Given the description of an element on the screen output the (x, y) to click on. 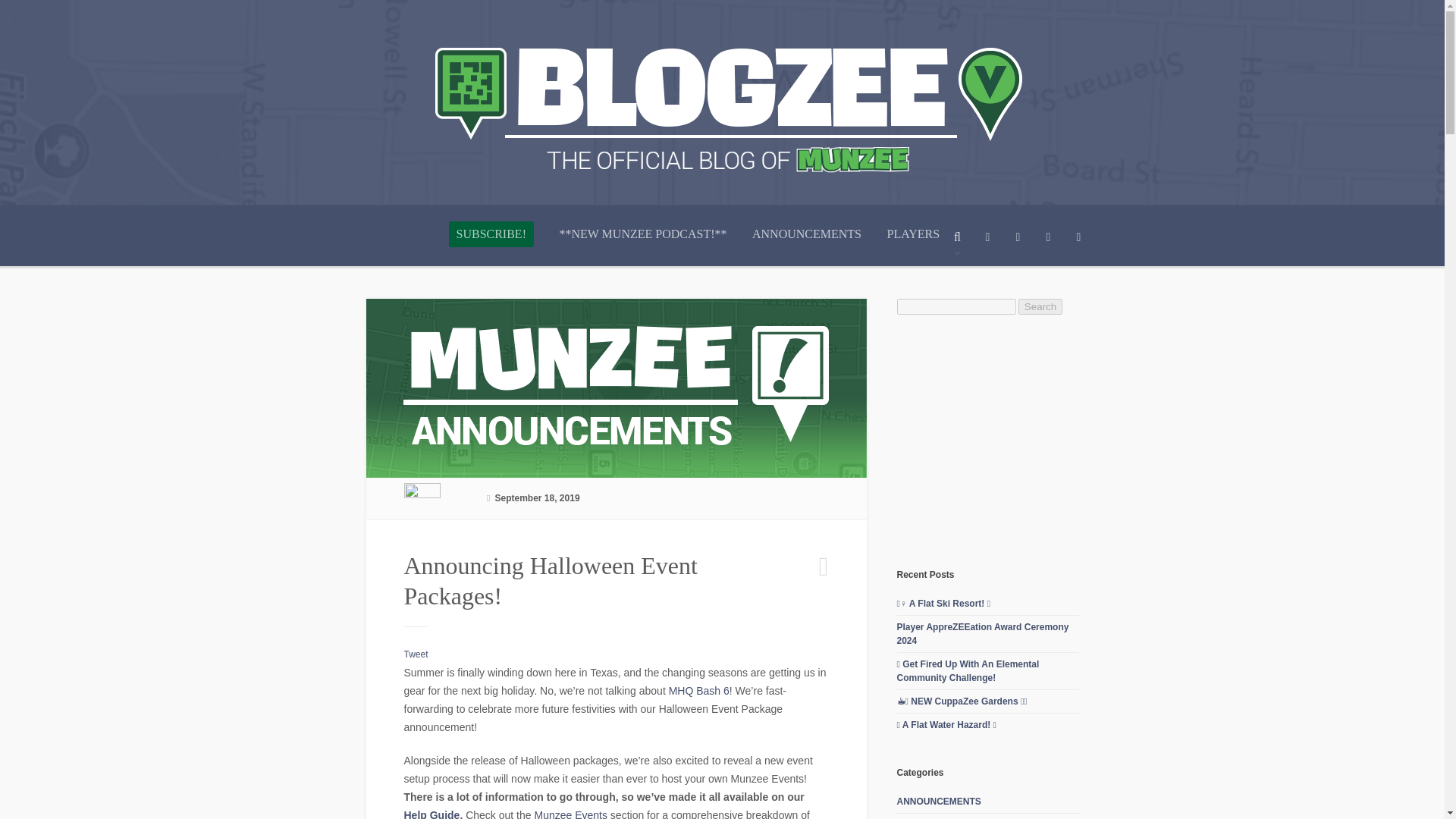
ANNOUNCEMENTS (806, 246)
PLAYERS (913, 246)
SUBSCRIBE! (491, 234)
Search (1039, 306)
MHQ Bash 6 (697, 690)
Munzee Events (570, 814)
Help Guide (431, 814)
Tweet (415, 654)
